Given the description of an element on the screen output the (x, y) to click on. 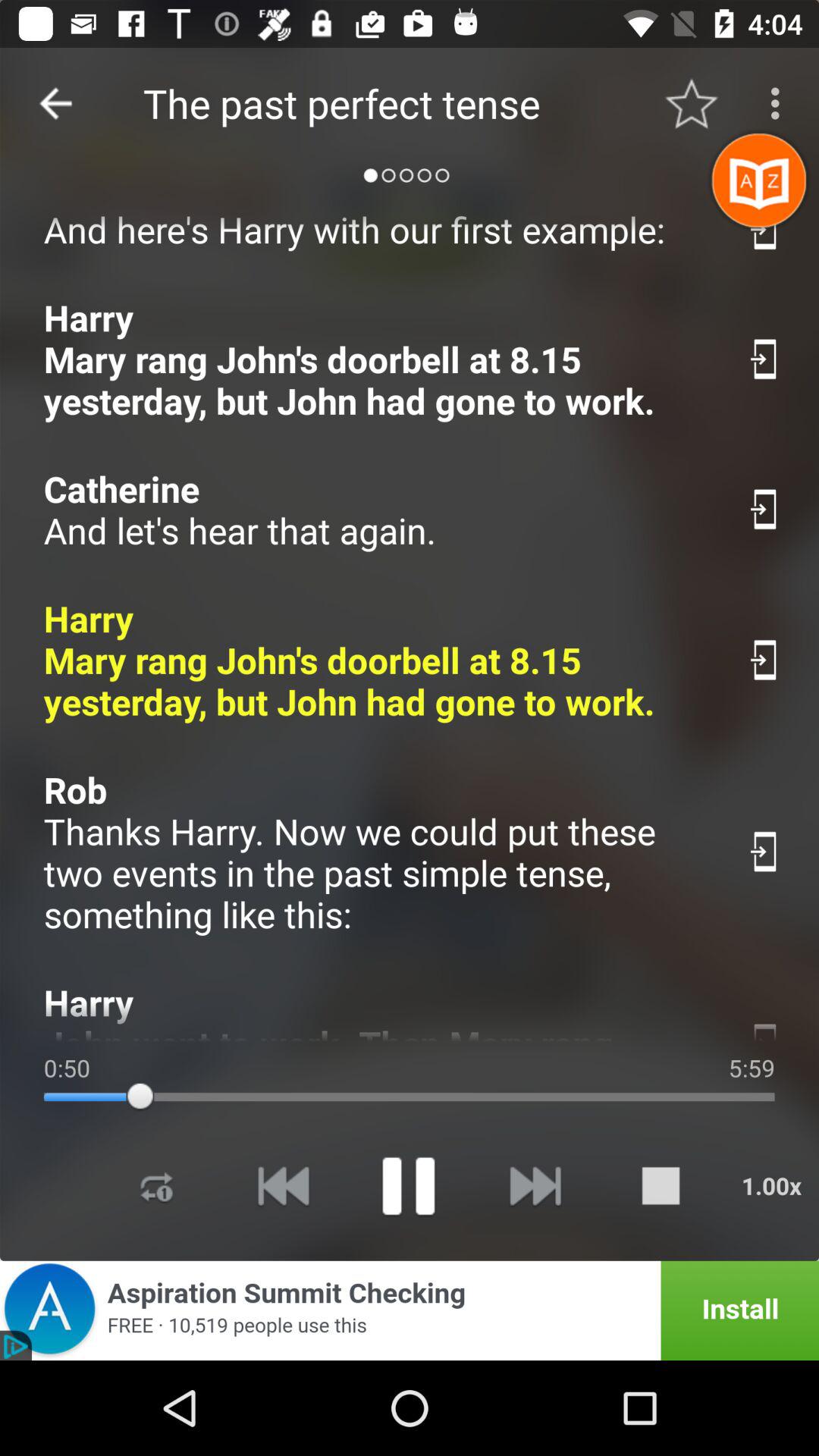
send selection (765, 1027)
